Given the description of an element on the screen output the (x, y) to click on. 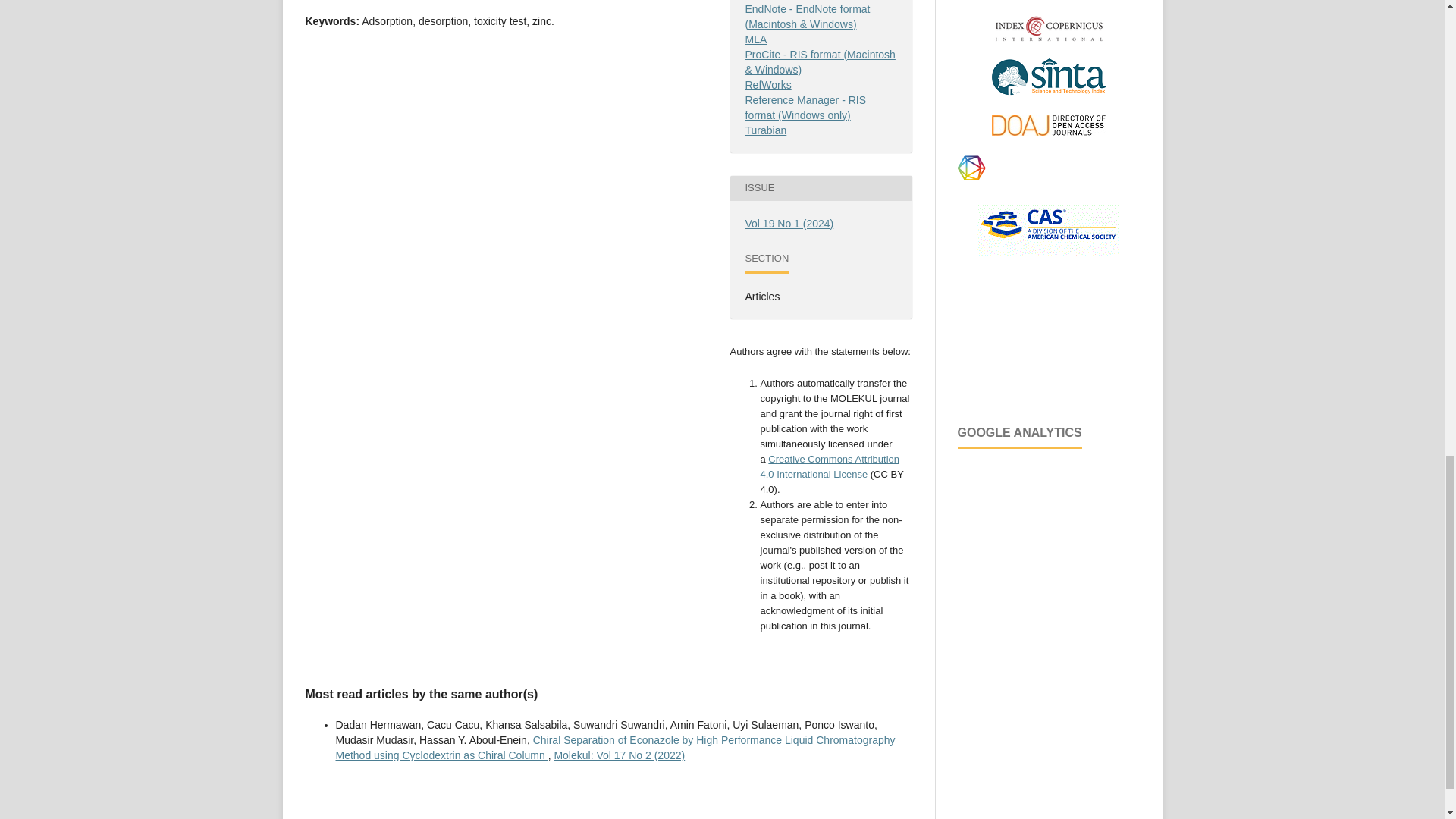
Turabian (765, 130)
ICI Molekul (1048, 38)
Scopus Molekul (1048, 0)
Creative Commons Attribution 4.0 International License (829, 466)
CAS Molekul (1048, 251)
Dimensions Molekul (1047, 180)
RefWorks (767, 84)
MLA (755, 39)
Sinta Molekul (1048, 94)
